Given the description of an element on the screen output the (x, y) to click on. 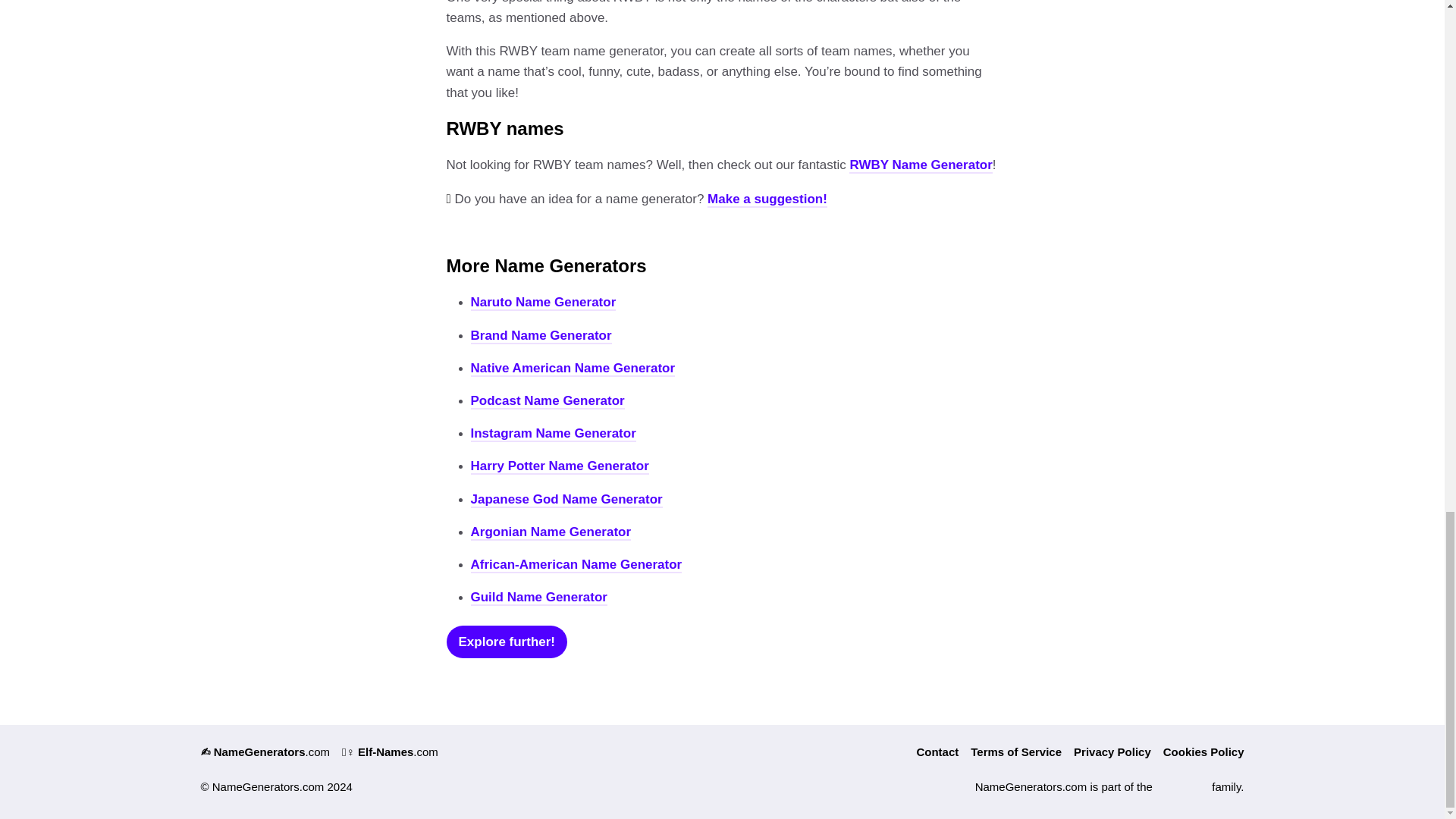
Guild Name Generator (538, 597)
RWBY Name Generator (919, 165)
Naruto Name Generator (542, 302)
Native American Name Generator (572, 368)
Explore further! (506, 641)
Brand Name Generator (540, 335)
African-American Name Generator (575, 565)
Podcast Name Generator (547, 401)
Japanese God Name Generator (566, 499)
Instagram Name Generator (552, 433)
Harry Potter Name Generator (558, 466)
Make a suggestion! (767, 199)
Argonian Name Generator (550, 532)
